Given the description of an element on the screen output the (x, y) to click on. 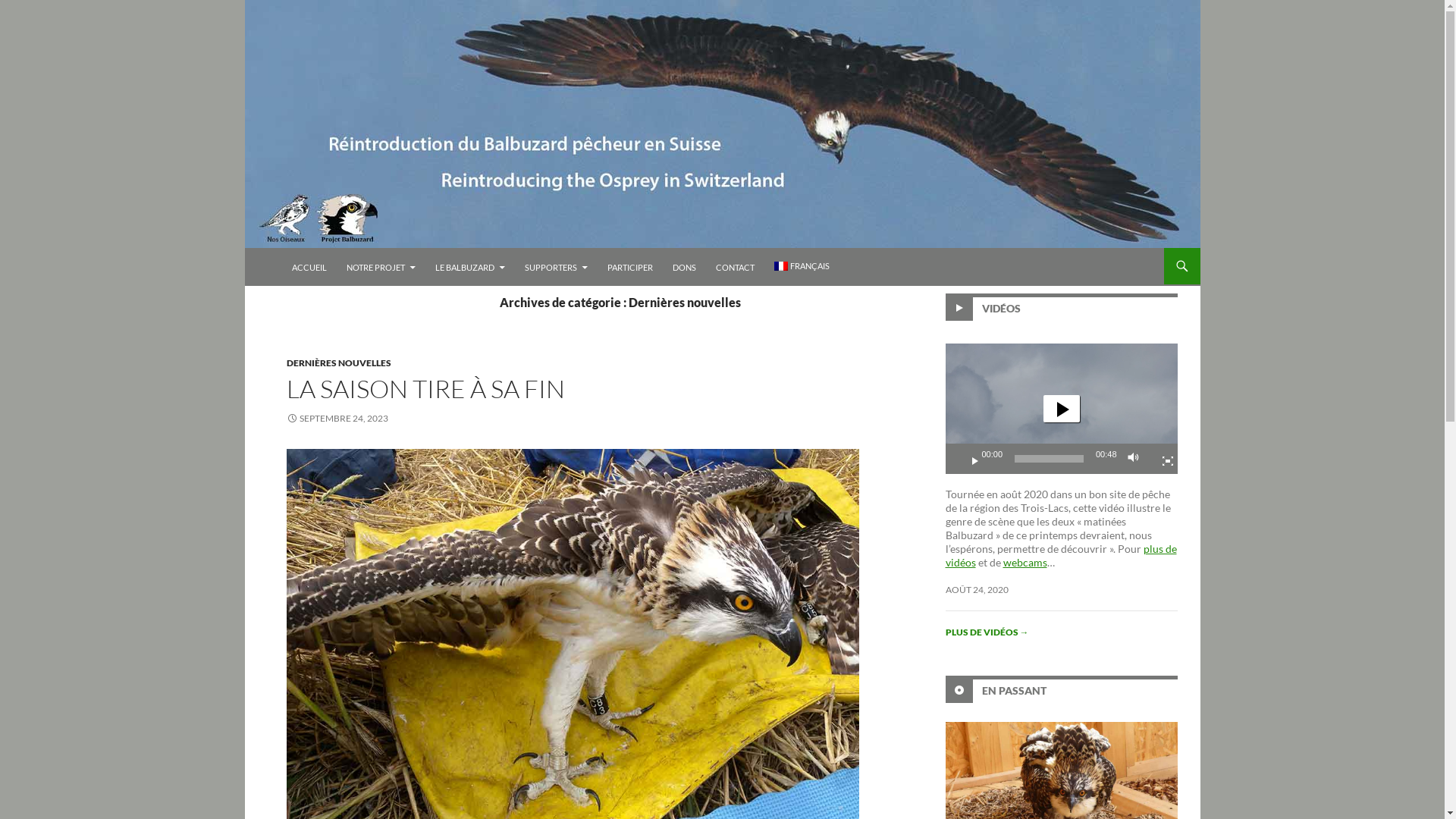
SEPTEMBRE 24, 2023 Element type: text (337, 417)
NOTRE PROJET Element type: text (379, 267)
SUPPORTERS Element type: text (555, 267)
PARTICIPER Element type: text (629, 267)
ALLER AU CONTENU Element type: text (291, 247)
CONTACT Element type: text (734, 267)
LE BALBUZARD Element type: text (470, 267)
EN PASSANT Element type: text (1013, 690)
Muet Element type: hover (1136, 458)
DONS Element type: text (683, 267)
Recherche Element type: text (247, 247)
ACCUEIL Element type: text (308, 267)
webcams Element type: text (1024, 561)
Lecture Element type: hover (968, 458)
